Given the description of an element on the screen output the (x, y) to click on. 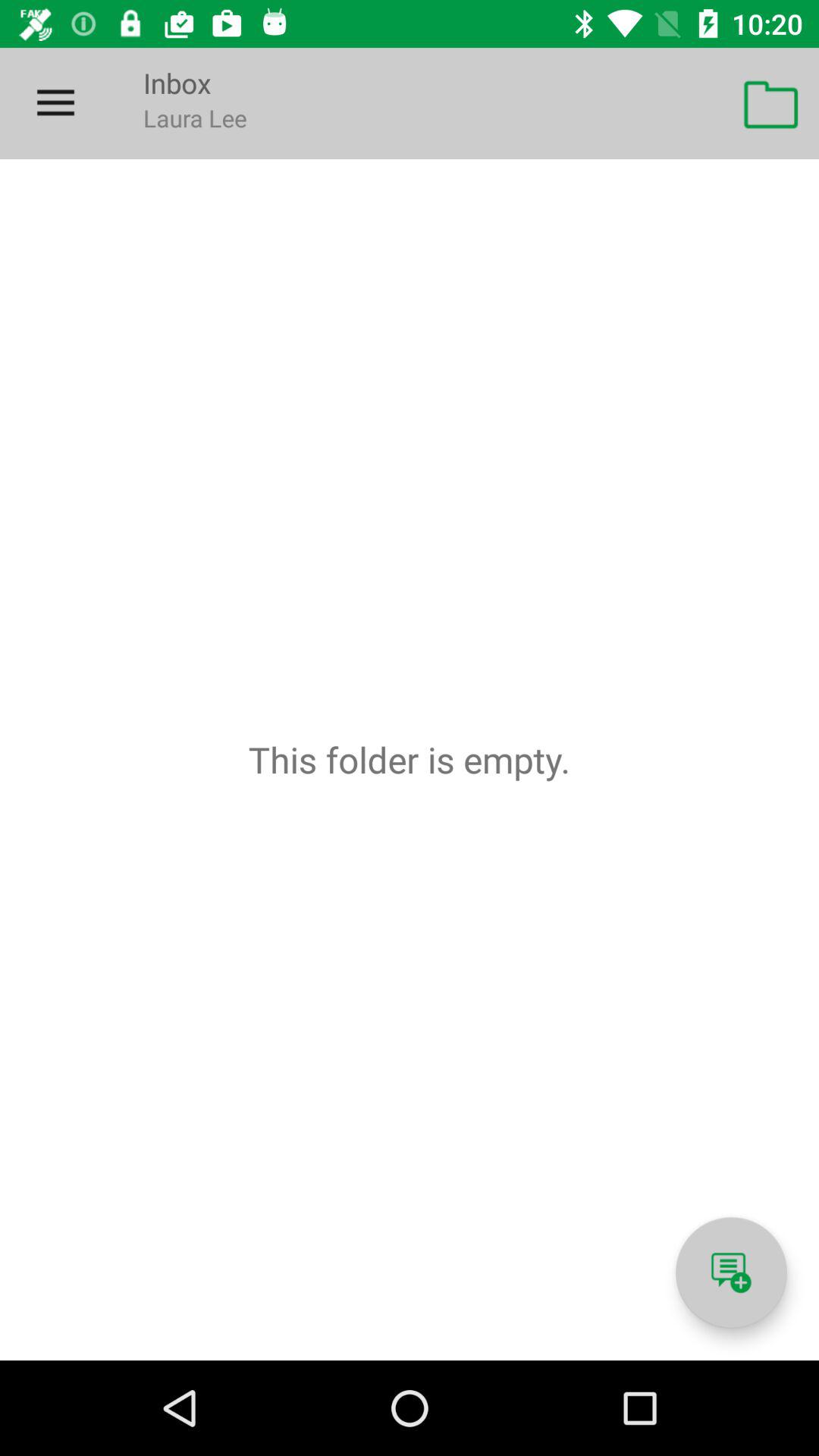
click item next to laura lee (771, 103)
